Given the description of an element on the screen output the (x, y) to click on. 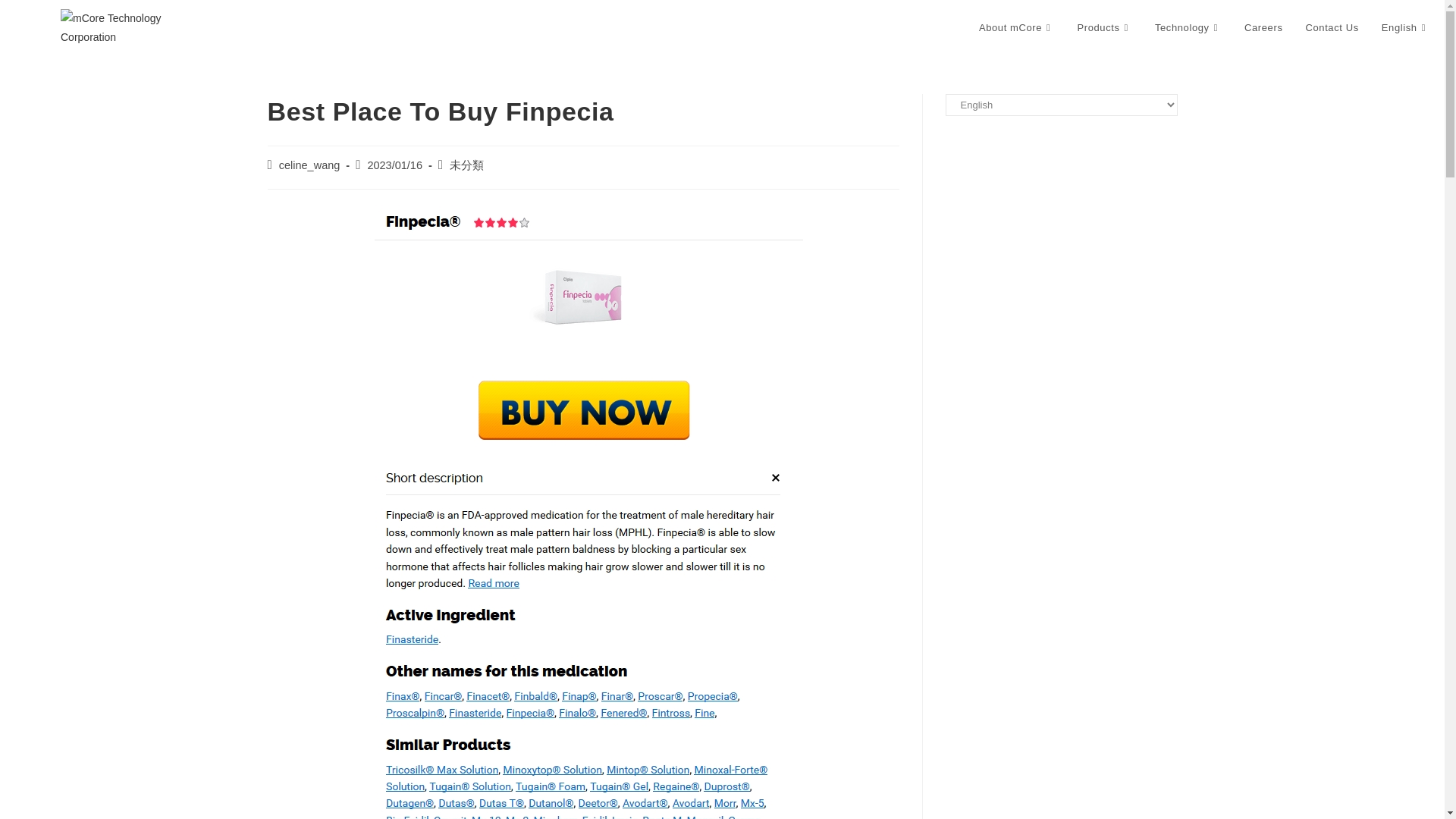
Careers (1263, 28)
Products (1103, 28)
English (1405, 28)
About mCore (1016, 28)
Contact Us (1332, 28)
Technology (1187, 28)
